Given the description of an element on the screen output the (x, y) to click on. 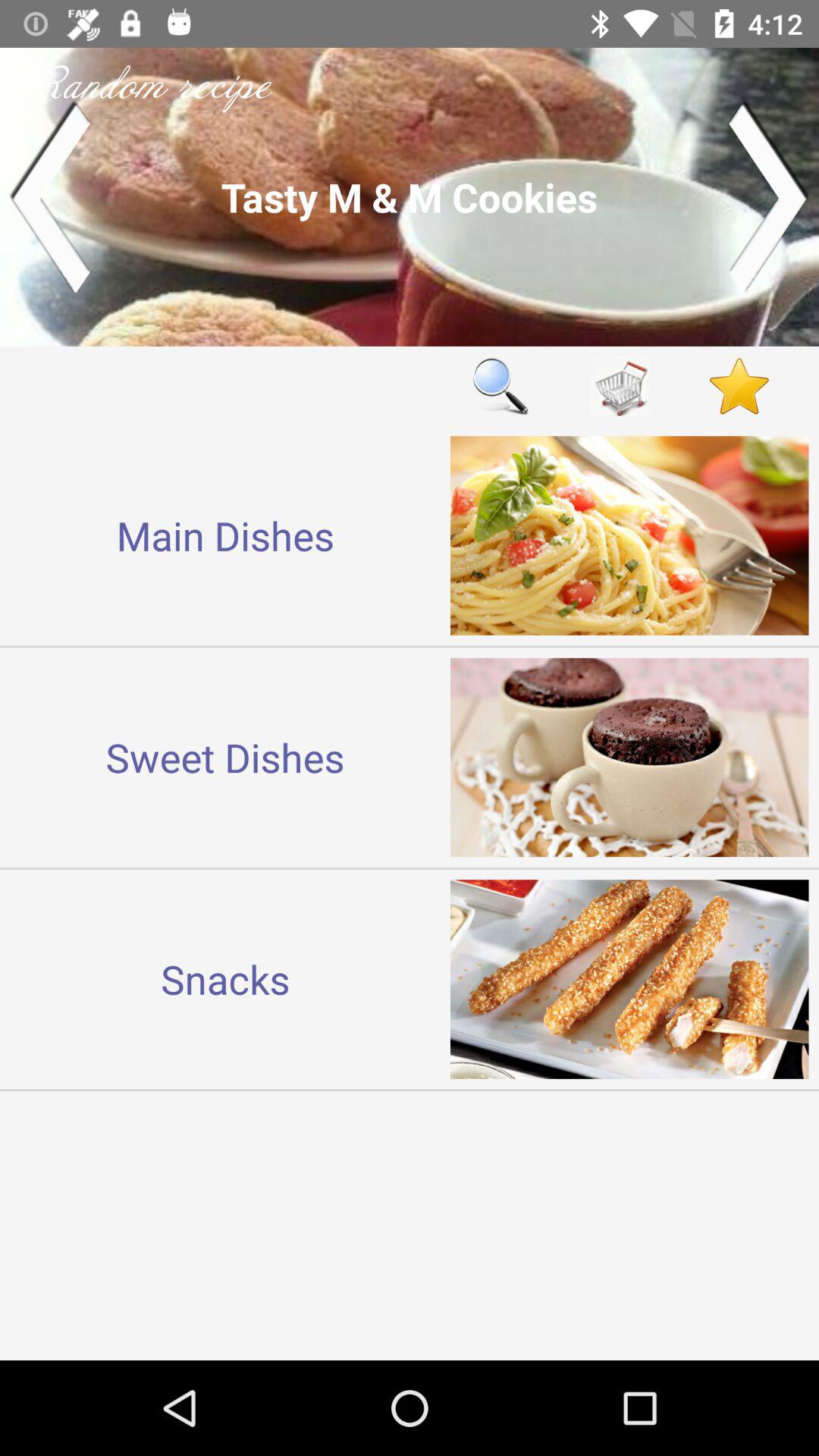
go to microwave (619, 385)
